Given the description of an element on the screen output the (x, y) to click on. 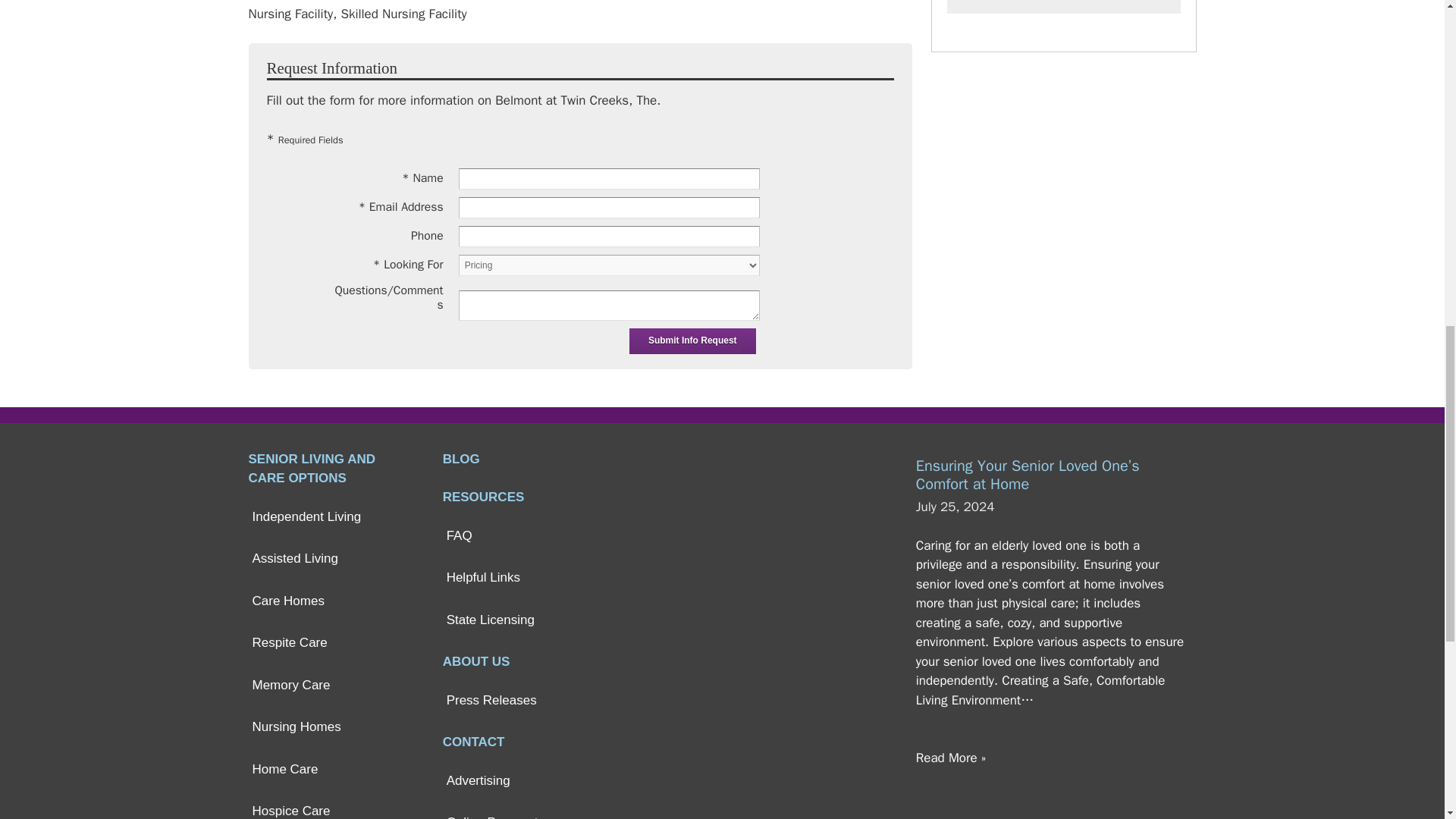
Submit Info Request (691, 340)
